Given the description of an element on the screen output the (x, y) to click on. 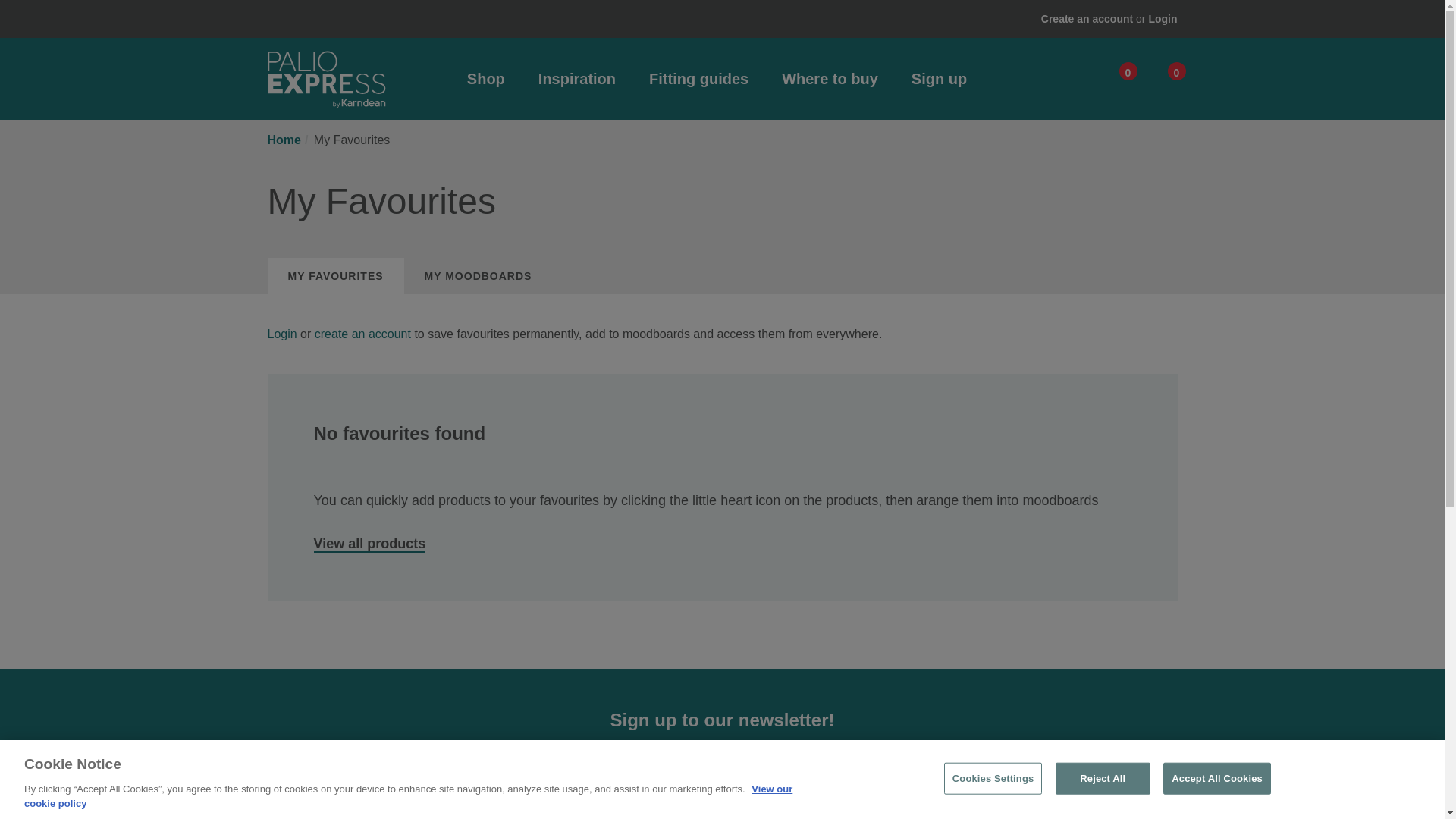
Fitting guides (698, 78)
Inspiration (576, 78)
Shop (486, 78)
View All Products (1112, 83)
Where to buy (370, 544)
Login (829, 78)
Login (282, 333)
0 (1162, 19)
Create an account (1160, 83)
Sign up (1086, 19)
